Given the description of an element on the screen output the (x, y) to click on. 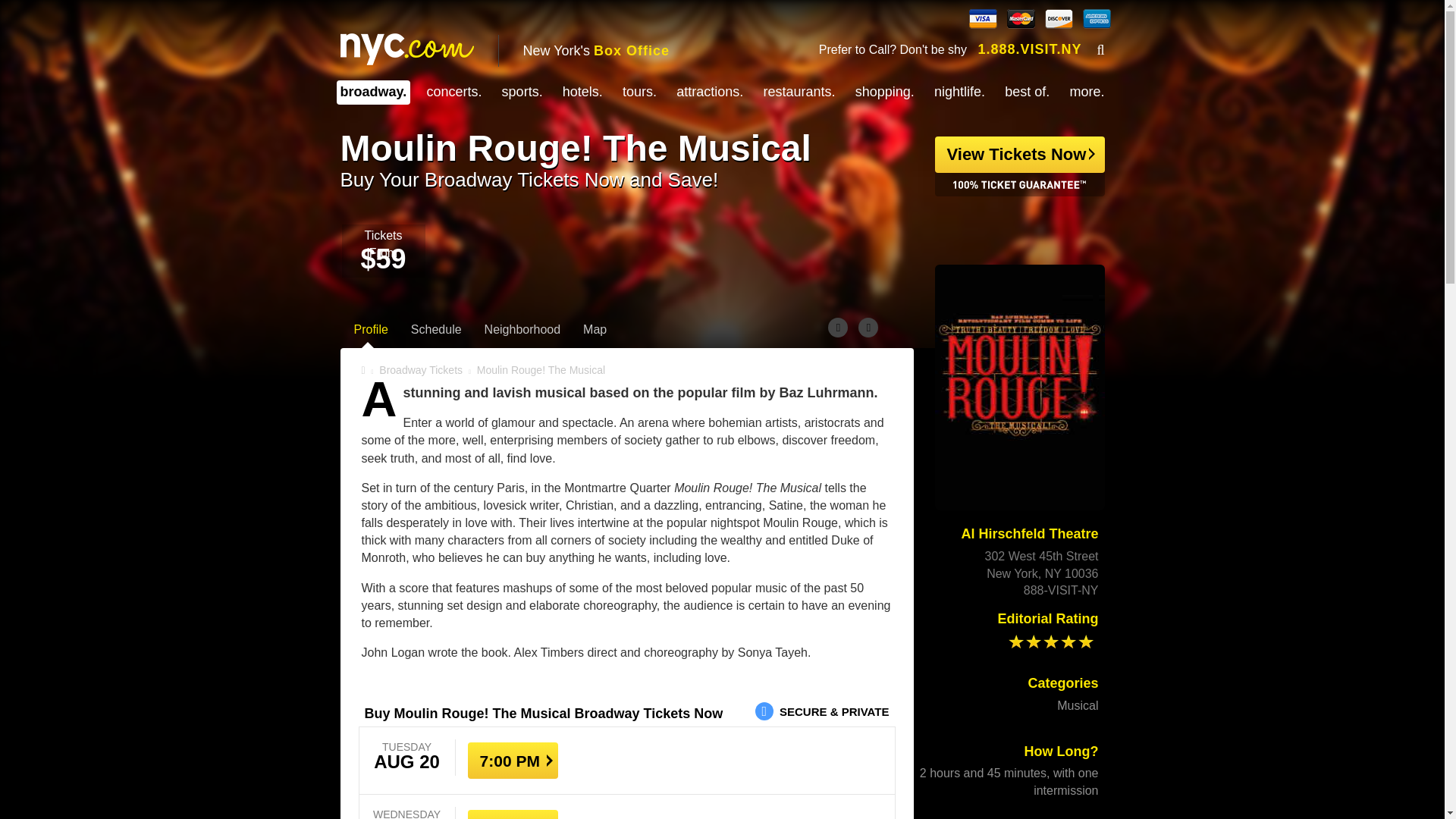
more. (1085, 91)
best of. (1026, 91)
hotels. (582, 91)
nightlife. (959, 91)
sports. (522, 91)
attractions. (709, 91)
restaurants. (798, 91)
tours. (639, 91)
broadway. (372, 91)
shopping. (885, 91)
